Given the description of an element on the screen output the (x, y) to click on. 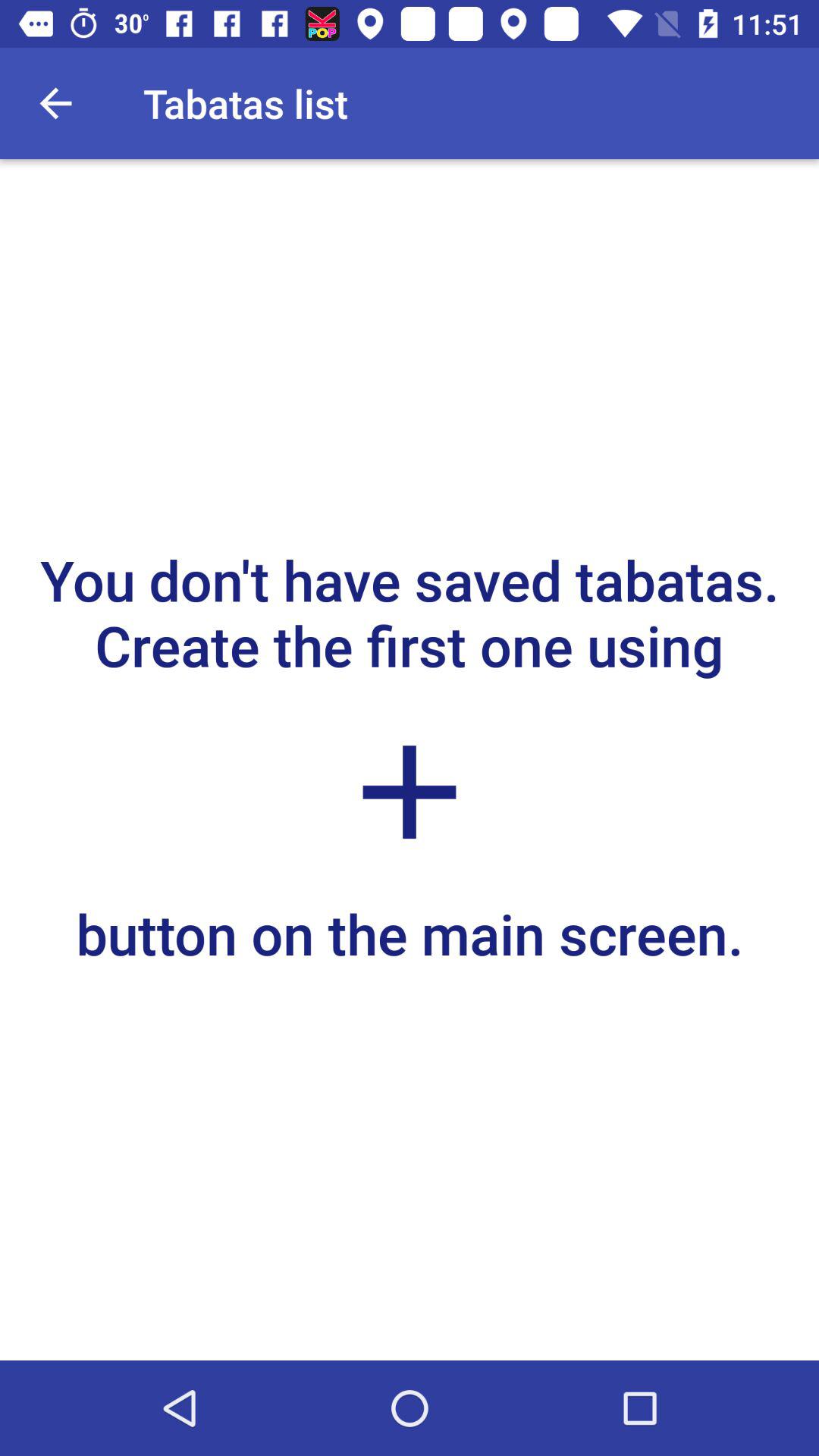
open the item above you don t (55, 103)
